Given the description of an element on the screen output the (x, y) to click on. 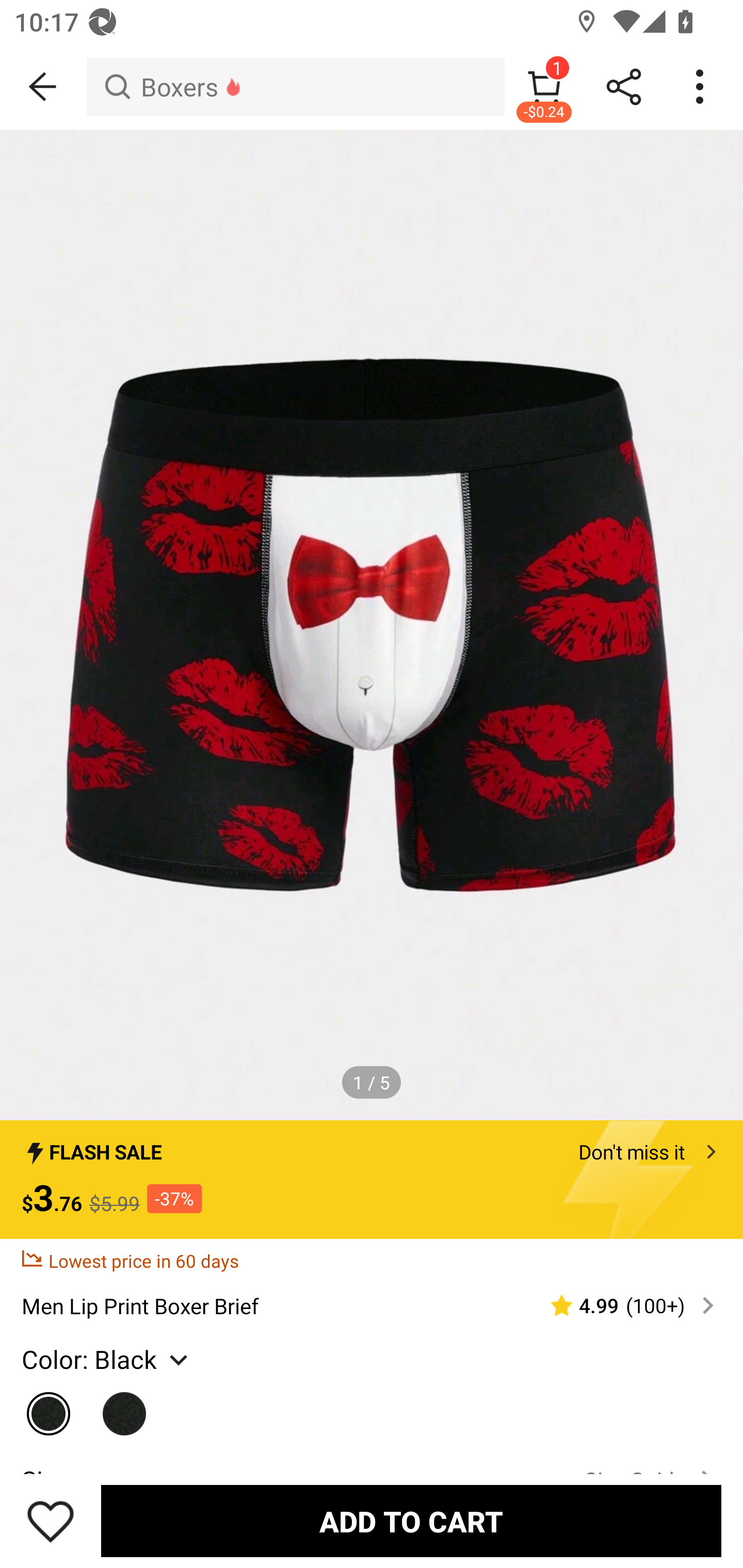
BACK (43, 86)
1 -$0.24 (543, 87)
Boxers (295, 87)
1 / 5 (371, 1082)
FLASH SALE Don't miss it (371, 1145)
4.99 (100‎+) (623, 1305)
Color: Black (107, 1359)
Black (48, 1408)
Black (124, 1408)
ADD TO CART (411, 1520)
Save (50, 1520)
